Given the description of an element on the screen output the (x, y) to click on. 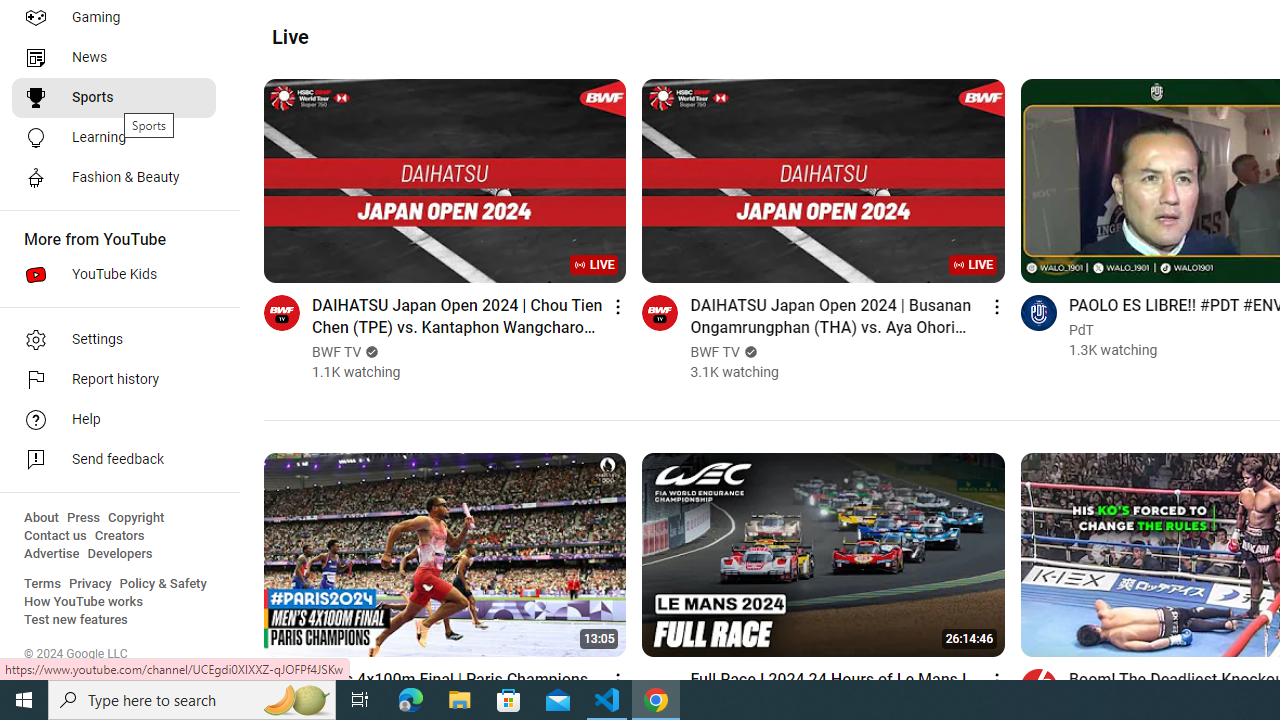
Send feedback (113, 459)
Action menu (996, 680)
Copyright (136, 518)
About (41, 518)
Report history (113, 380)
Policy & Safety (163, 584)
Learning (113, 137)
Advertise (51, 554)
Developers (120, 554)
Test new features (76, 620)
Sports (113, 97)
YouTube Kids (113, 274)
